Given the description of an element on the screen output the (x, y) to click on. 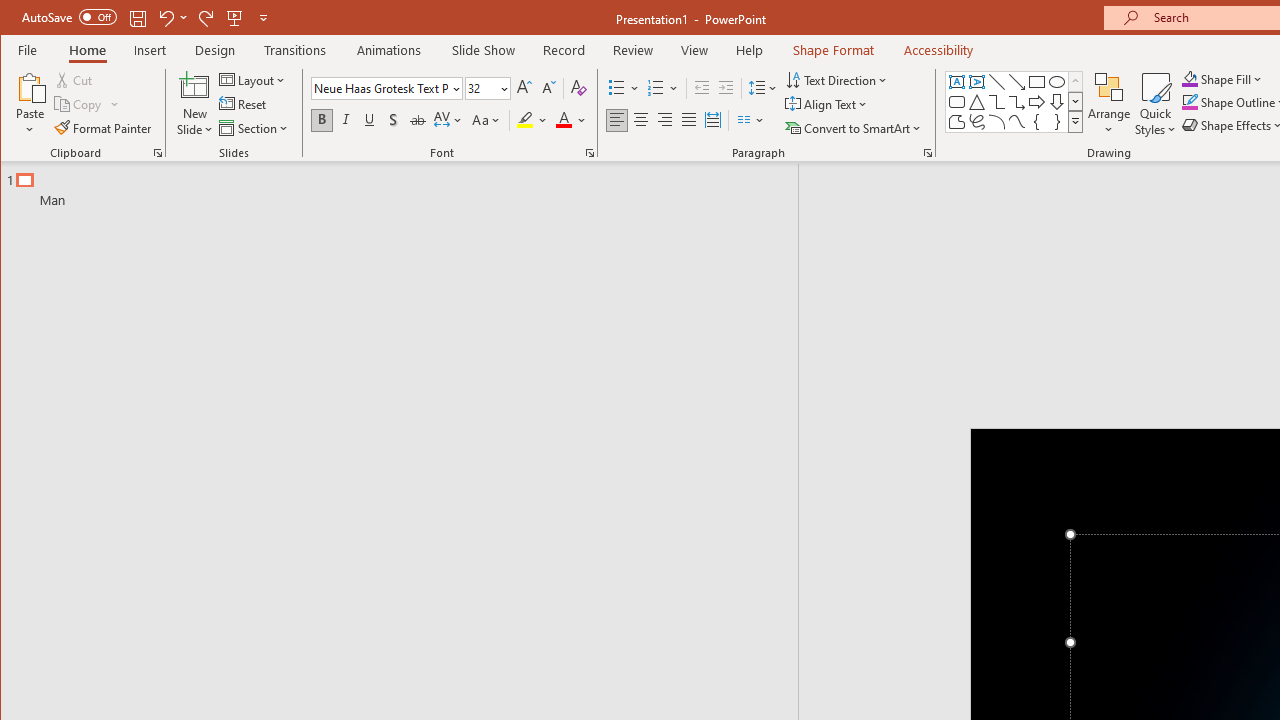
Center (640, 119)
Underline (369, 119)
Cut (74, 80)
Distributed (712, 119)
Text Highlight Color Yellow (525, 119)
Isosceles Triangle (976, 102)
Convert to SmartArt (855, 127)
Clear Formatting (579, 88)
Justify (689, 119)
Align Left (616, 119)
